Given the description of an element on the screen output the (x, y) to click on. 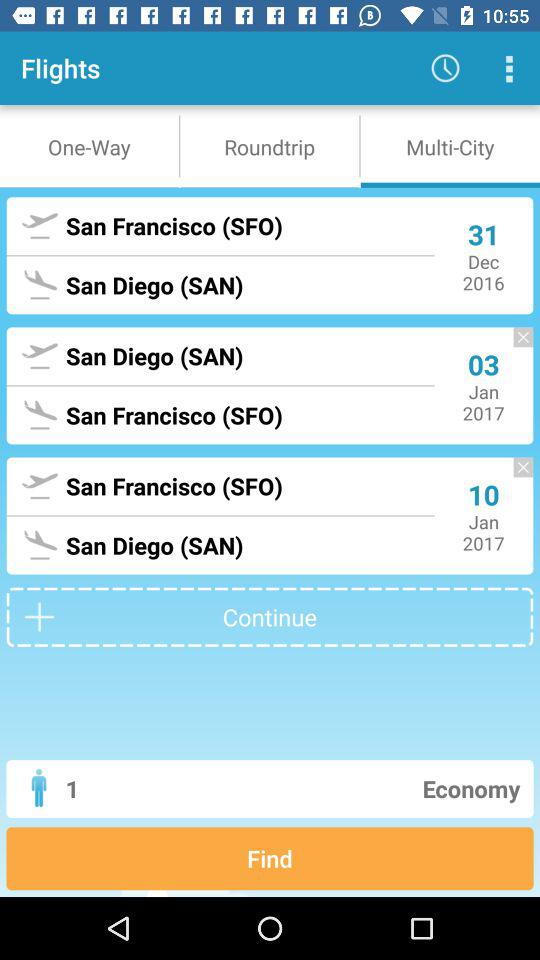
press icon to the right of the 1 (346, 788)
